Given the description of an element on the screen output the (x, y) to click on. 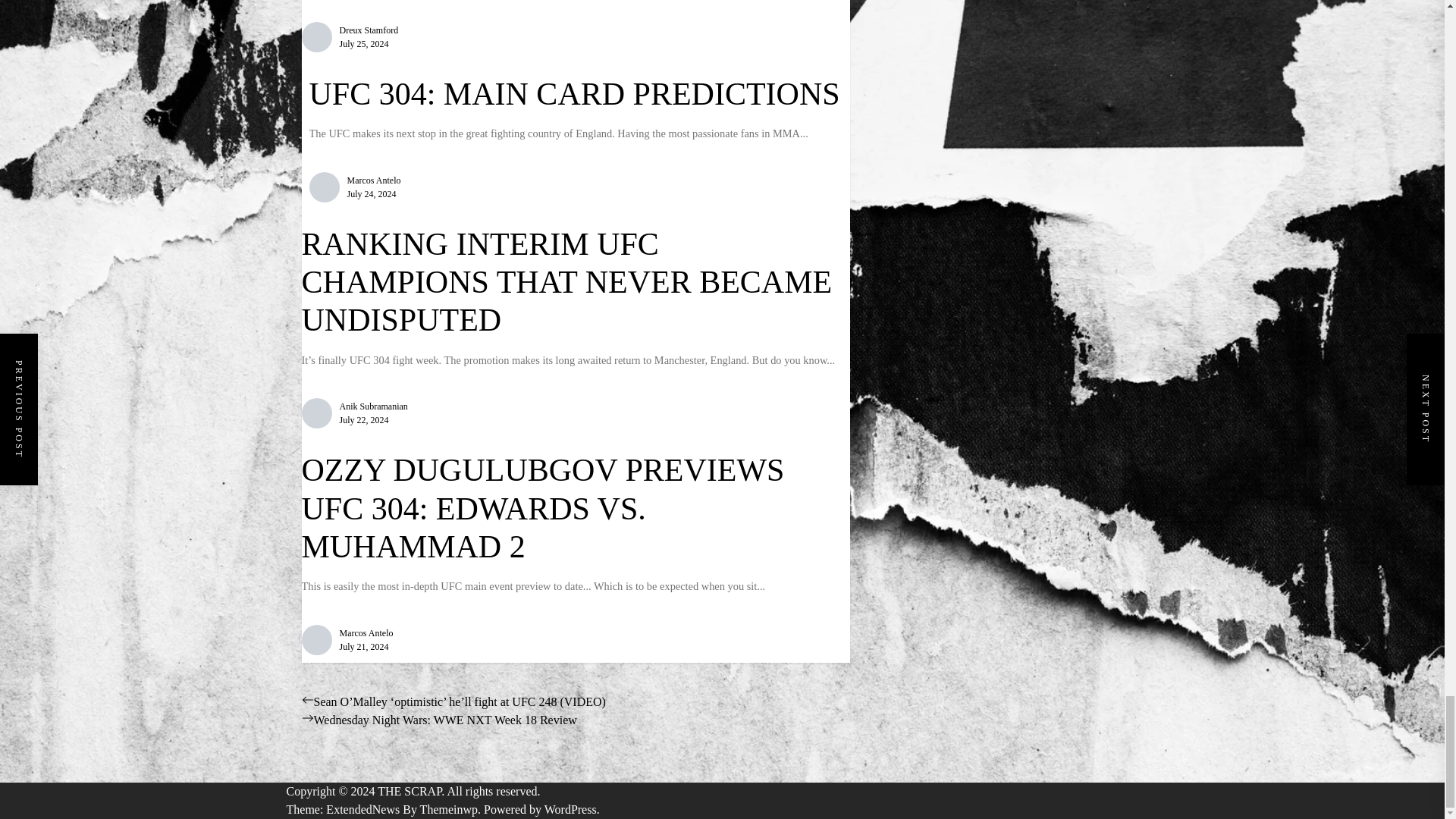
THE SCRAP (411, 790)
WordPress (571, 809)
Themeinwp (451, 809)
